Given the description of an element on the screen output the (x, y) to click on. 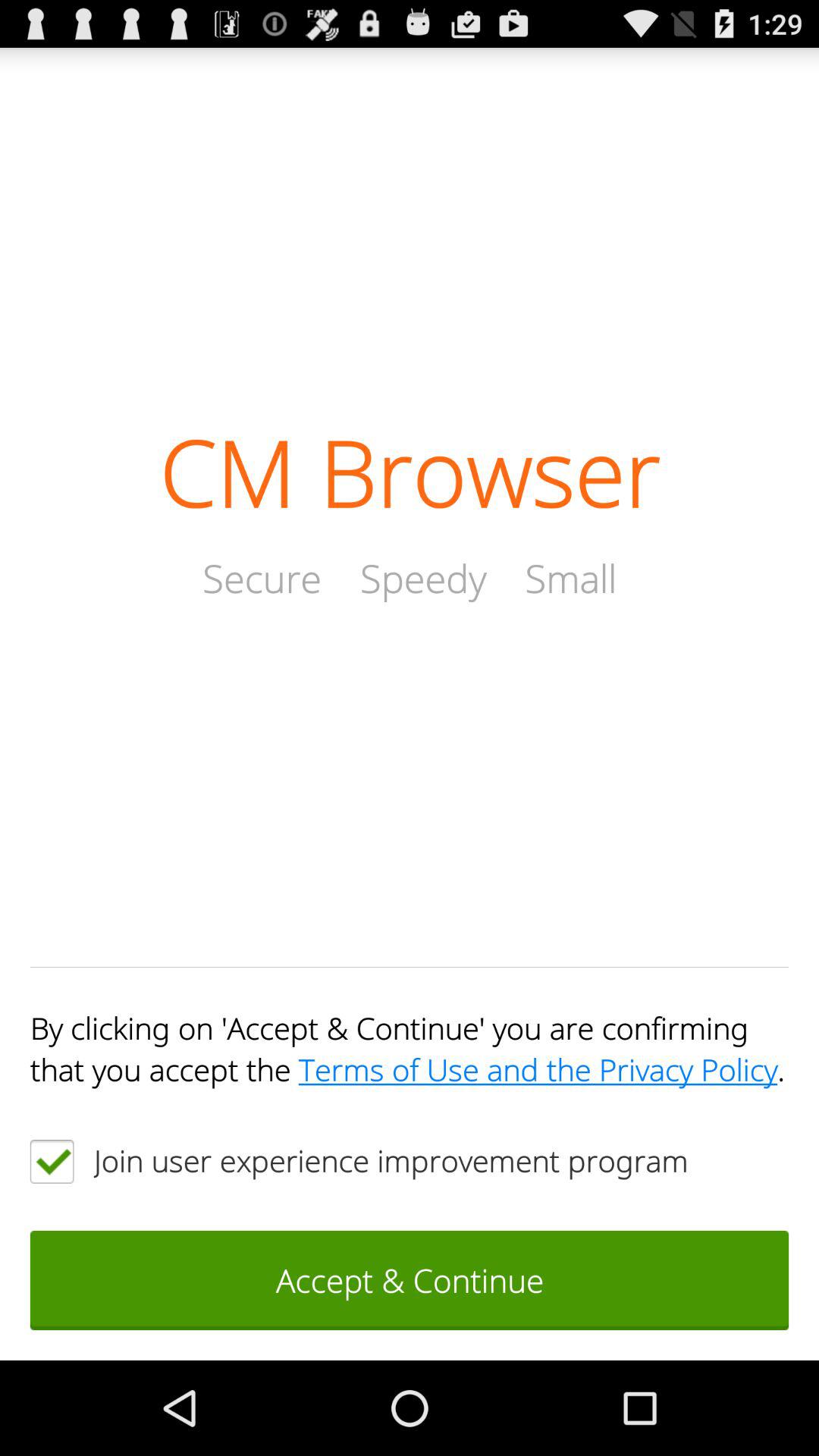
do not sign up for user experience improvement program (51, 1161)
